Given the description of an element on the screen output the (x, y) to click on. 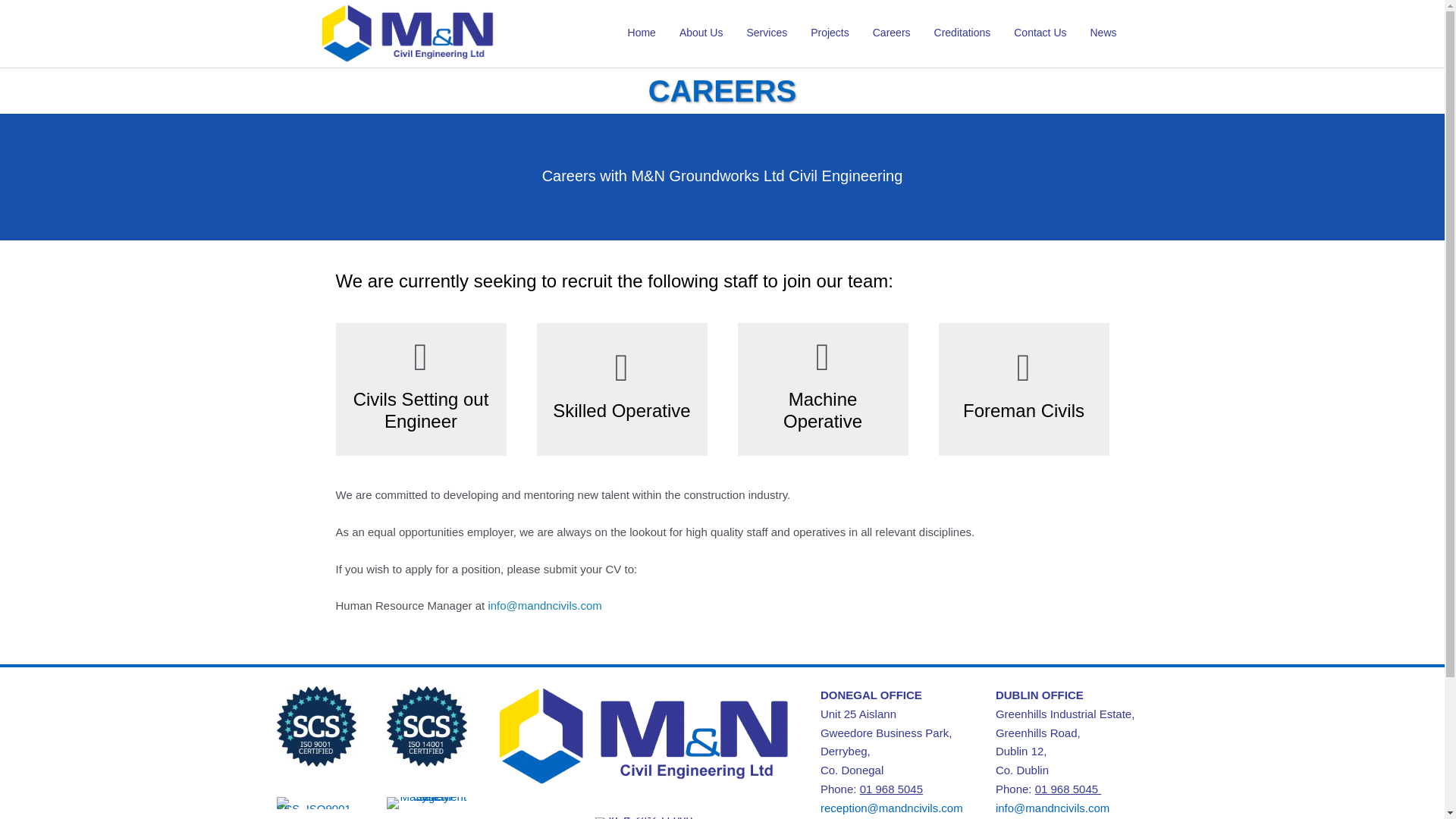
Services (763, 32)
Creditations (959, 32)
MN-Civils-new-logo-no-website-link (643, 736)
Projects (827, 32)
VCR 24-25 Logo (644, 818)
Home (639, 32)
News (1101, 32)
Careers (889, 32)
Contact Us (1037, 32)
MN-Civils-new-logo-no-website-link (407, 33)
About Us (698, 32)
